Given the description of an element on the screen output the (x, y) to click on. 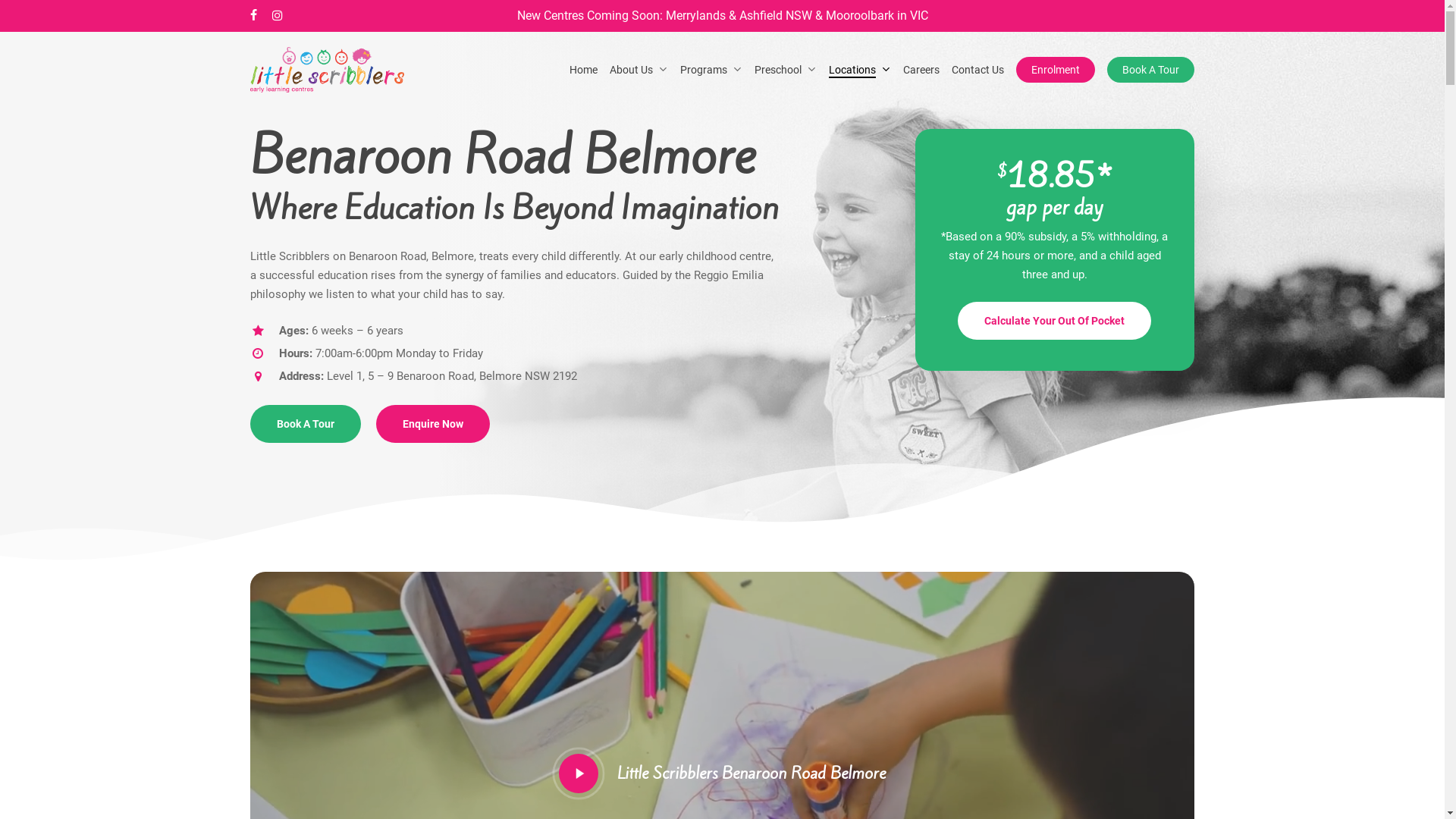
Programs Element type: text (711, 69)
Enquire Now Element type: text (432, 423)
Careers Element type: text (921, 69)
Contact Us Element type: text (977, 69)
instagram Element type: text (277, 15)
Play Video
Little Scribblers Benaroon Road Belmore Element type: text (721, 773)
Locations Element type: text (859, 69)
Book A Tour Element type: text (305, 423)
Book A Tour Element type: text (1150, 69)
facebook Element type: text (253, 15)
Home Element type: text (583, 69)
About Us Element type: text (638, 69)
Preschool Element type: text (785, 69)
Enrolment Element type: text (1055, 69)
Calculate Your Out Of Pocket Element type: text (1054, 320)
